Given the description of an element on the screen output the (x, y) to click on. 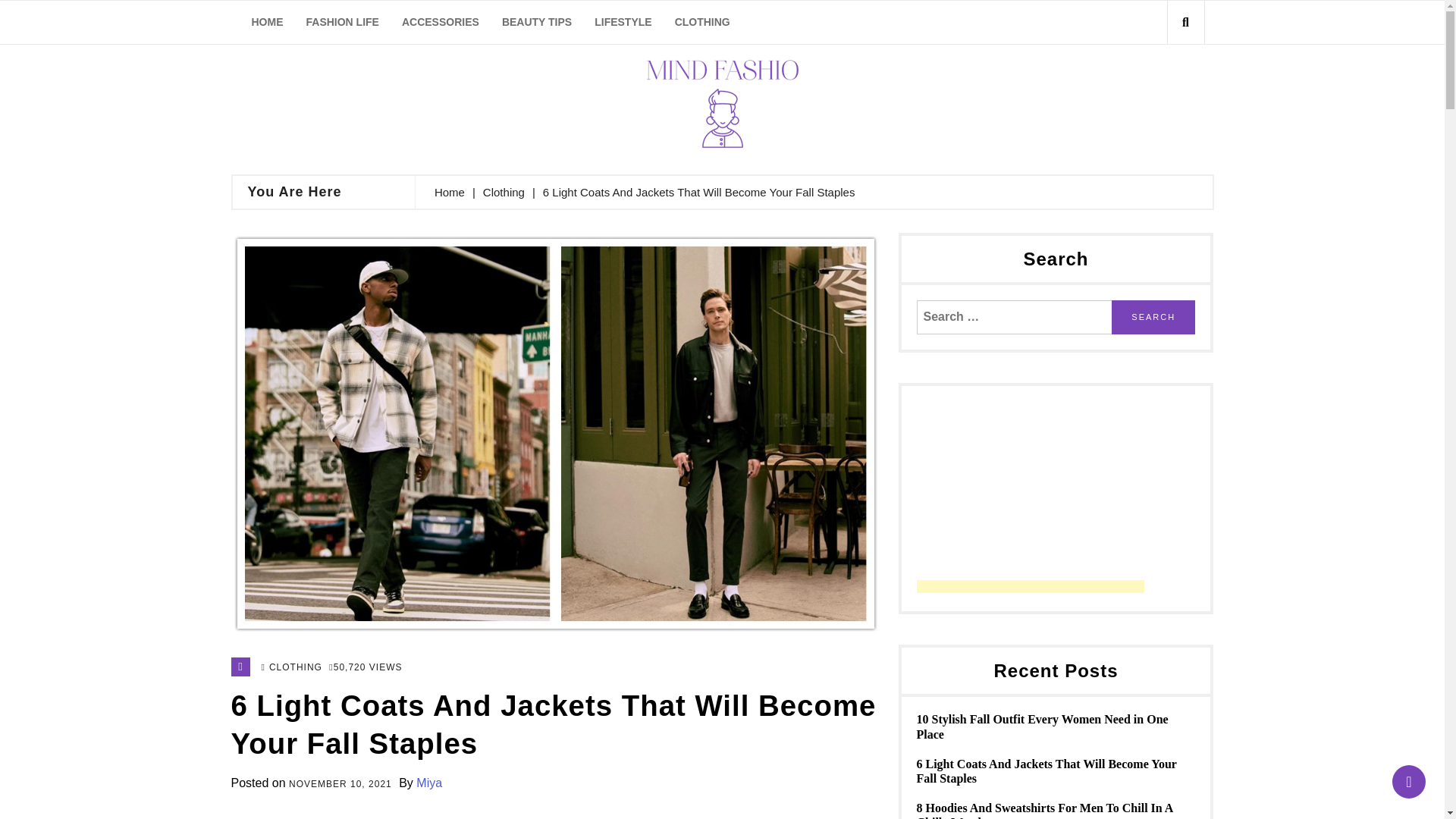
Clothing (503, 191)
BEAUTY TIPS (536, 22)
NOVEMBER 10, 2021 (339, 785)
Search (1153, 317)
CLOTHING (702, 22)
FASHION LIFE (342, 22)
10 Stylish Fall Outfit Every Women Need in One Place (1055, 726)
Miya (429, 782)
Search (1158, 89)
Search (1153, 317)
